Given the description of an element on the screen output the (x, y) to click on. 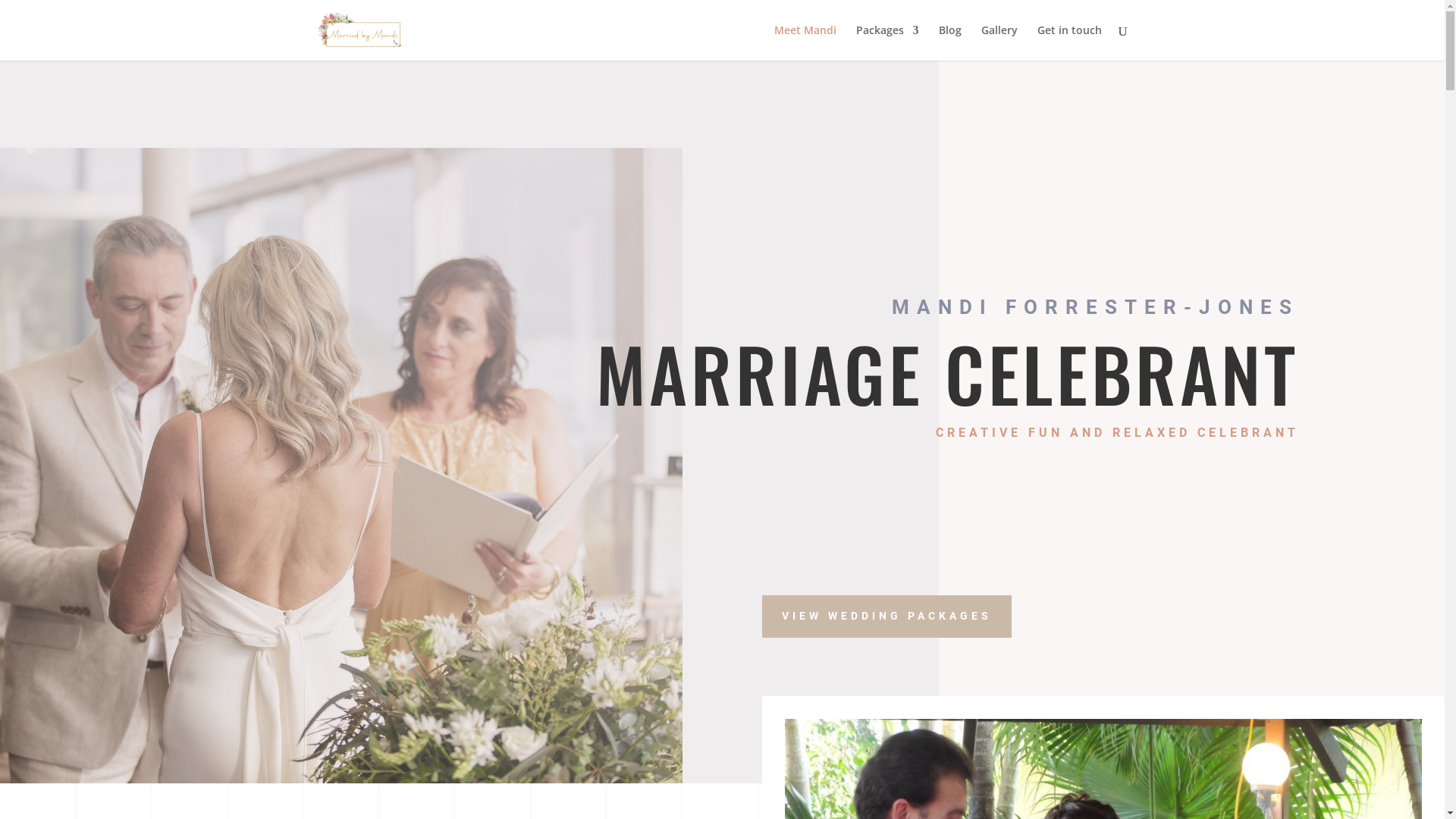
VIEW WEDDING PACKAGES Element type: text (886, 616)
Meet Mandi Element type: text (804, 42)
Packages Element type: text (886, 42)
Gallery Element type: text (999, 42)
Get in touch Element type: text (1069, 42)
Blog Element type: text (949, 42)
